Given the description of an element on the screen output the (x, y) to click on. 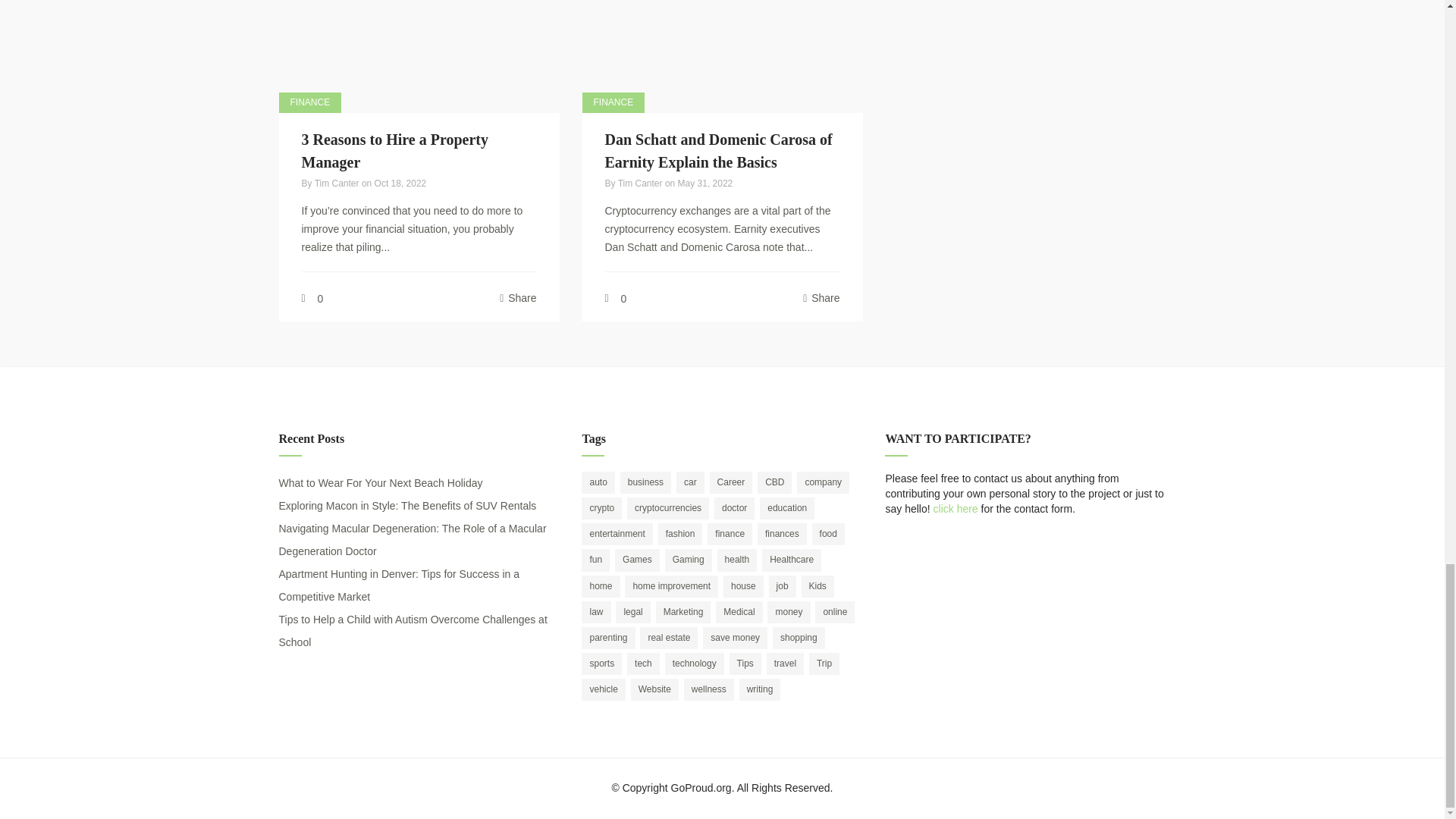
3 Reasons to Hire a Property Manager (394, 150)
Tim Canter (337, 183)
FINANCE (310, 102)
